Given the description of an element on the screen output the (x, y) to click on. 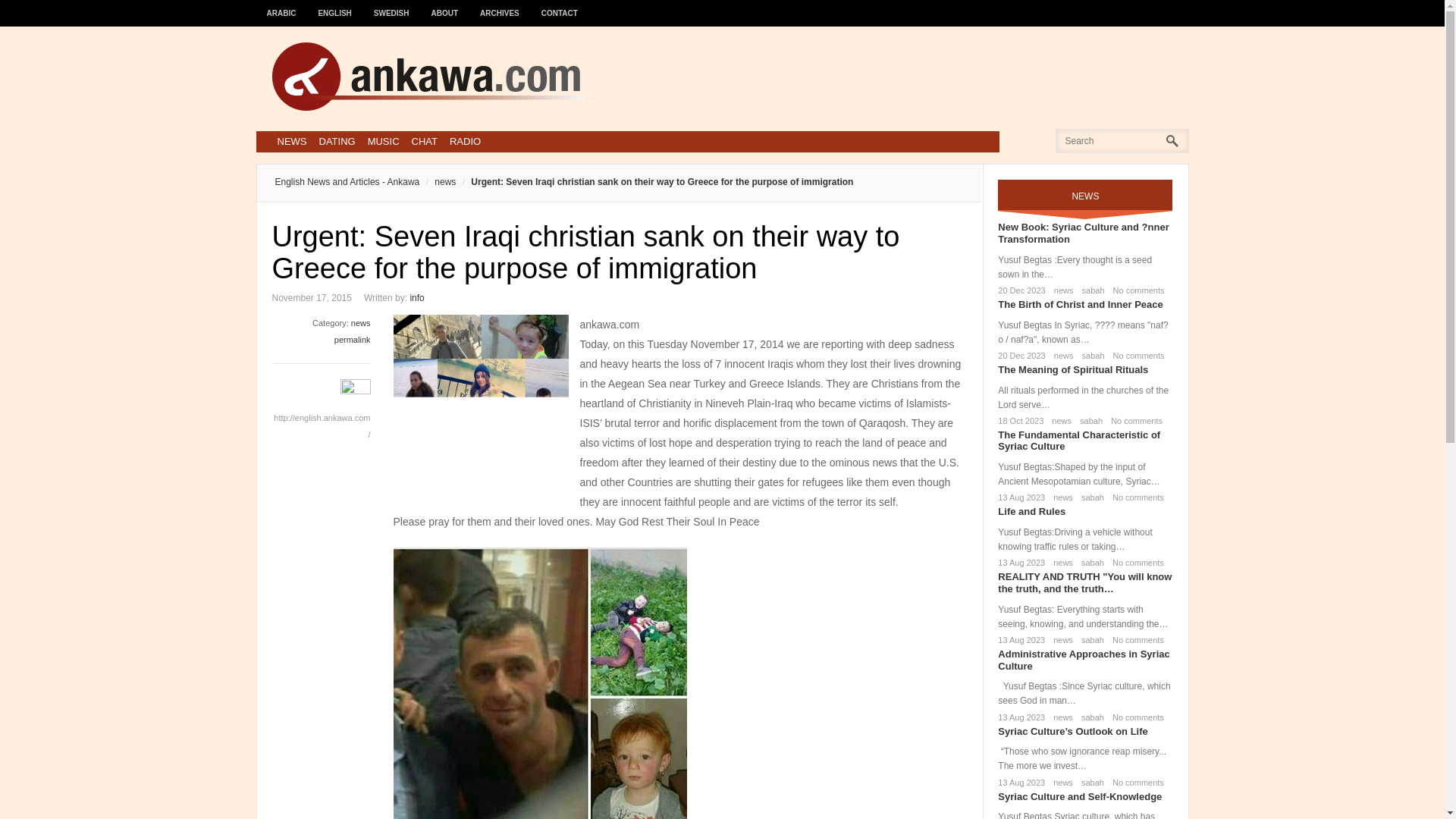
news (1059, 497)
No comments (1135, 355)
Life and Rules (1031, 511)
New Book: Syriac Culture and ?nner Transformation (1083, 232)
CONTACT (560, 5)
sabah (1090, 289)
DATING (337, 141)
ABOUT (445, 5)
news (1061, 289)
